Given the description of an element on the screen output the (x, y) to click on. 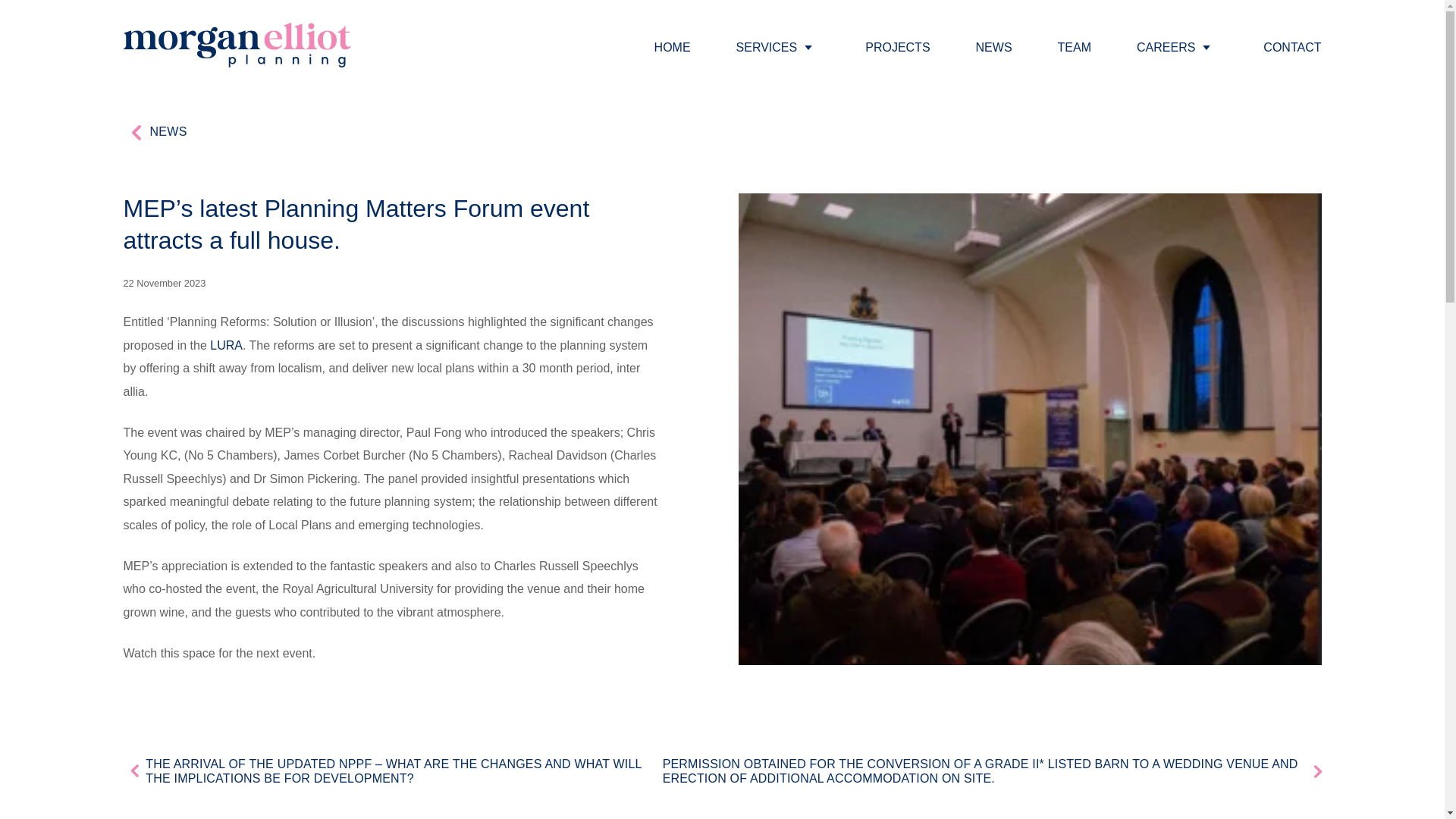
CAREERS (1166, 47)
SERVICES (766, 47)
PROJECTS (897, 47)
NEWS (154, 131)
TEAM (1074, 47)
CONTACT (1291, 47)
HOME (671, 47)
NEWS (993, 47)
LURA (226, 345)
